Given the description of an element on the screen output the (x, y) to click on. 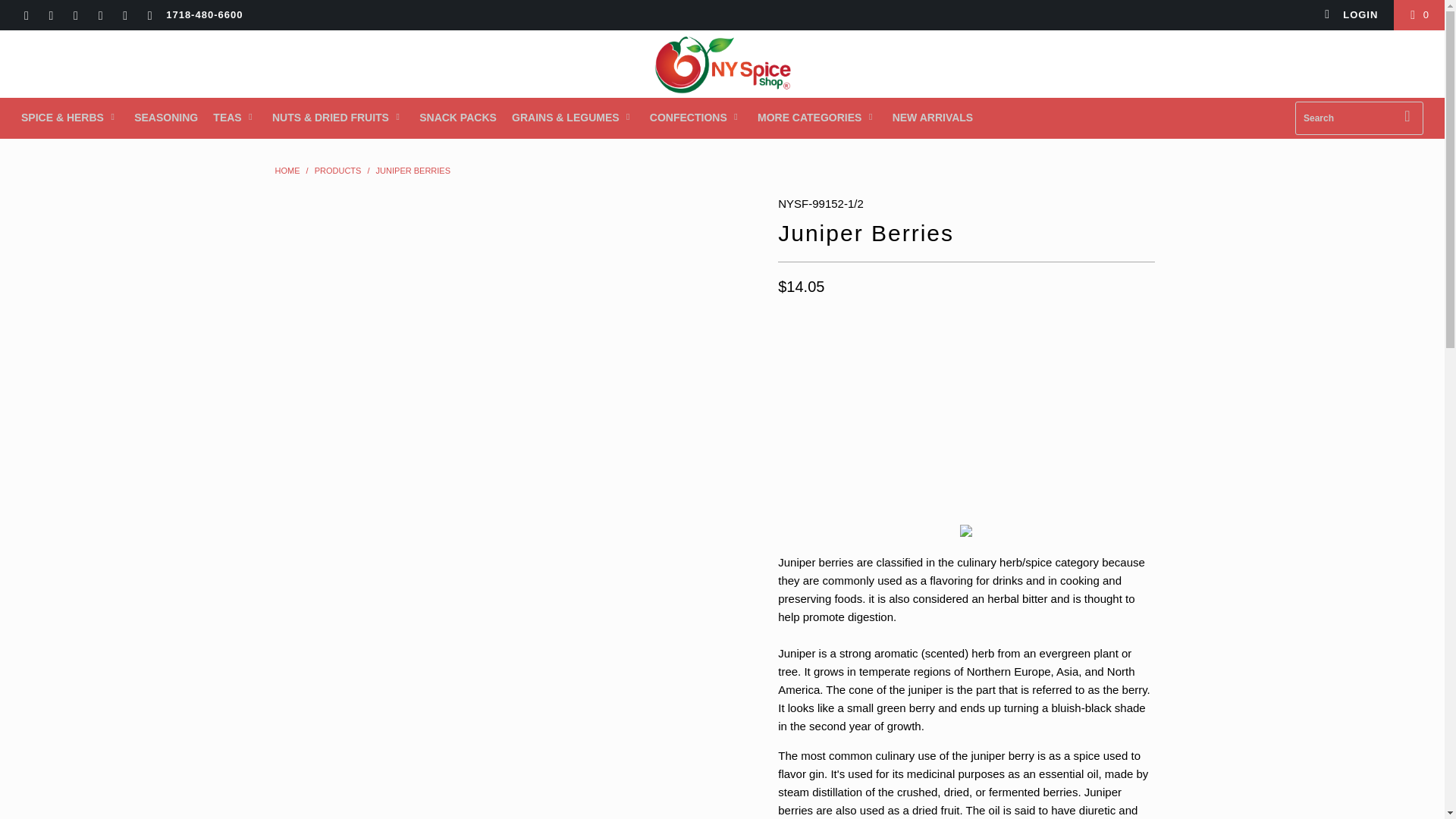
Products (337, 170)
NY Spice Shop on Instagram (124, 16)
NY Spice Shop (287, 170)
NY Spice Shop on YouTube (74, 16)
NY Spice Shop on Pinterest (99, 16)
NY Spice Shop on Facebook (50, 16)
Email NY Spice Shop (148, 16)
My Account  (1351, 15)
NY Spice Shop on Twitter (25, 16)
